Given the description of an element on the screen output the (x, y) to click on. 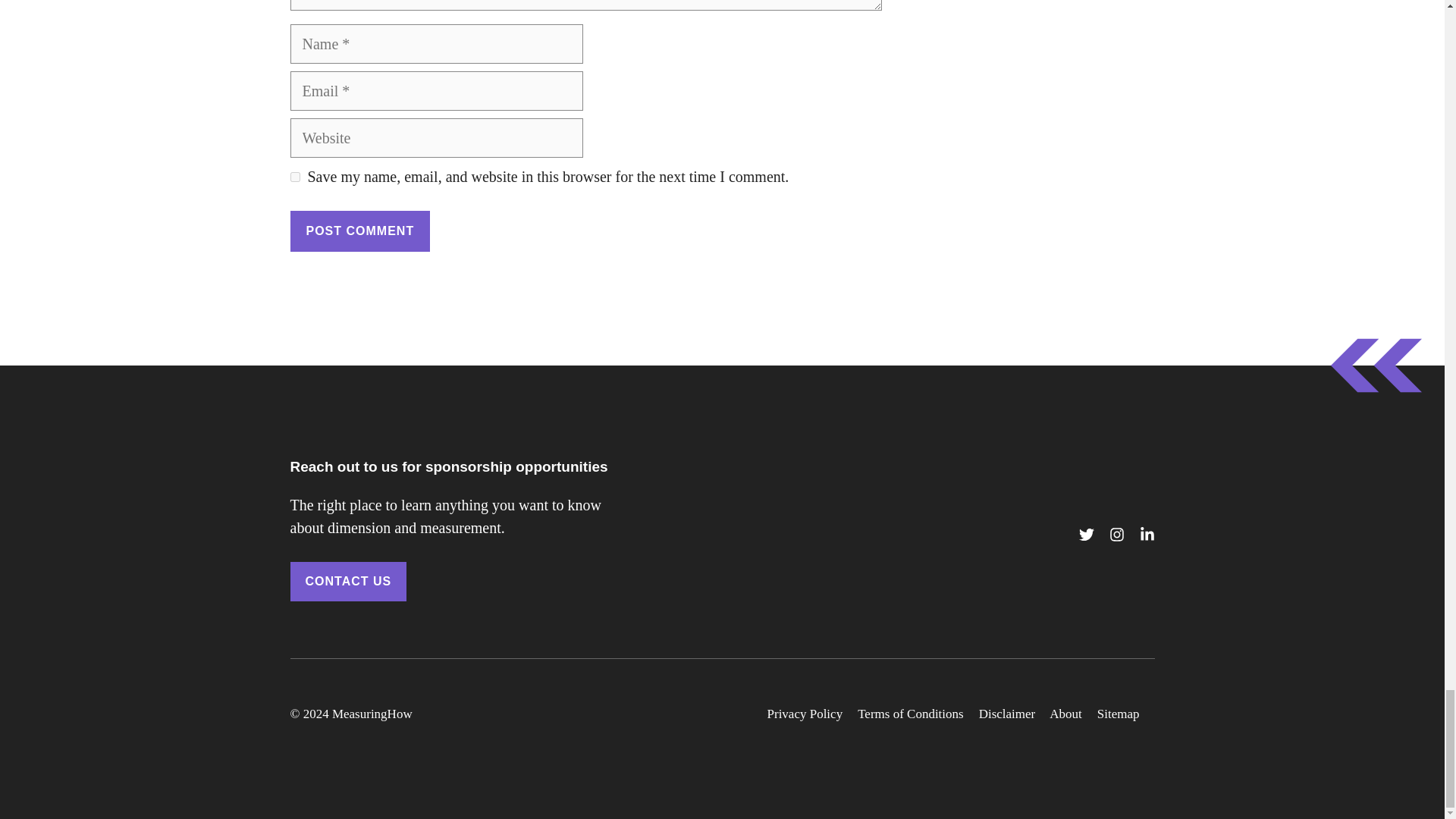
Post Comment (359, 230)
yes (294, 176)
Terms of Conditions (910, 713)
Privacy Policy (805, 713)
CONTACT US (347, 581)
Disclaimer (1006, 713)
Post Comment (359, 230)
About (1065, 713)
Sitemap (1118, 713)
